Given the description of an element on the screen output the (x, y) to click on. 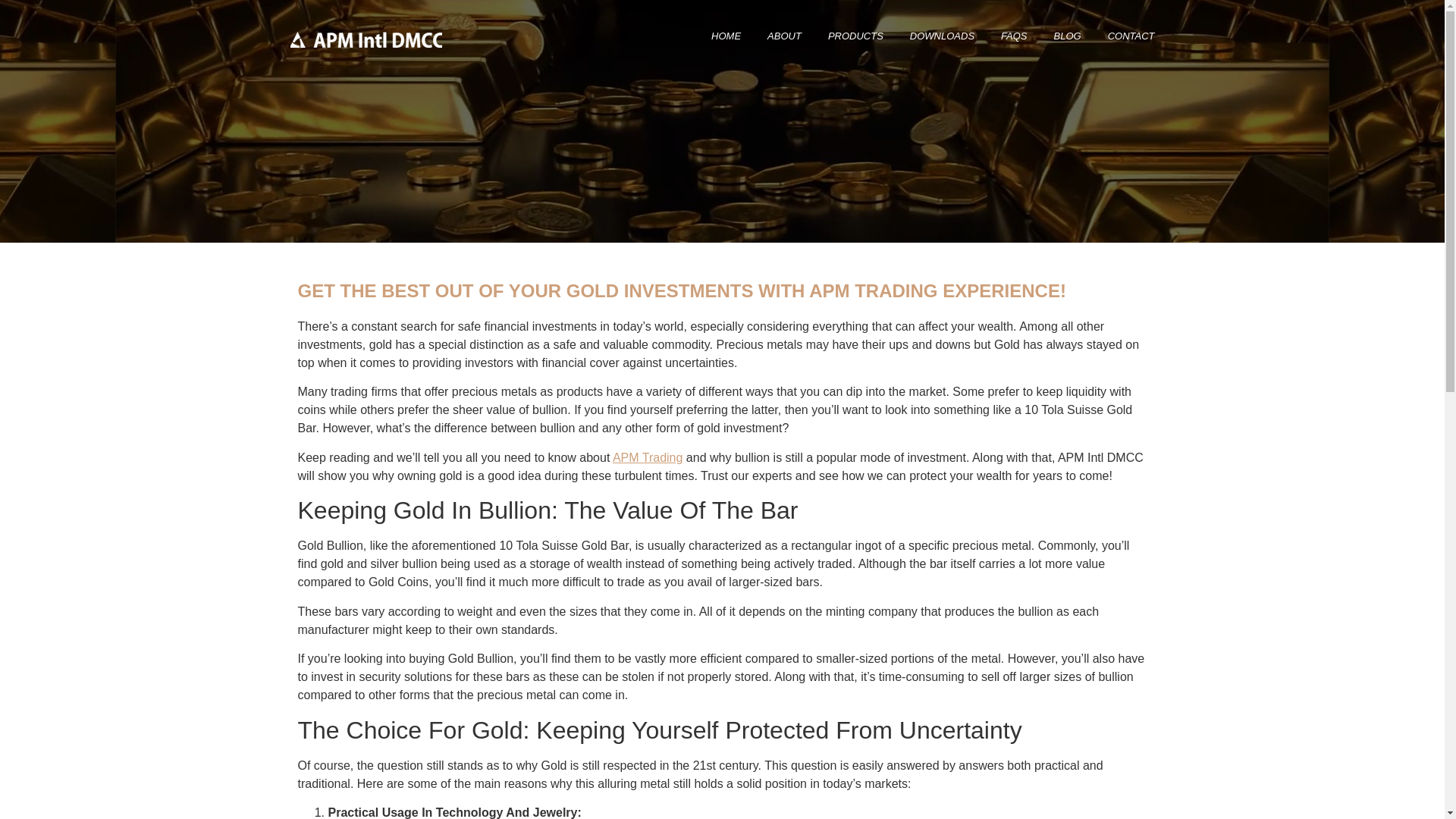
FAQS (1013, 36)
BLOG (1067, 36)
ABOUT (784, 36)
CONTACT (1131, 36)
HOME (726, 36)
APM Trading (647, 457)
PRODUCTS (855, 36)
DOWNLOADS (942, 36)
header-logo (365, 39)
